Given the description of an element on the screen output the (x, y) to click on. 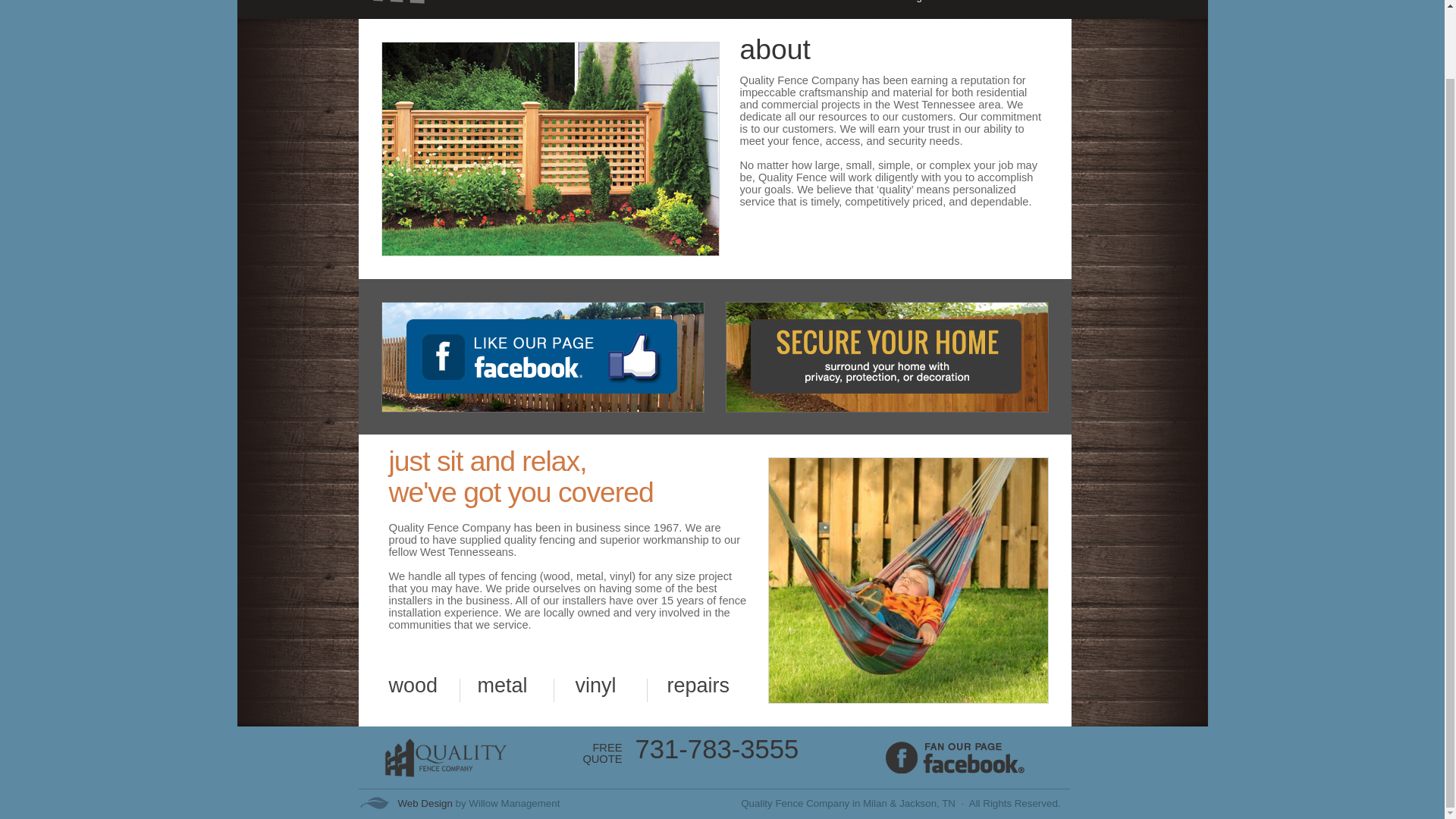
Contact (991, 2)
vinyl (595, 685)
Decks (859, 2)
Web Design (424, 803)
Home (681, 2)
Pergolas (924, 2)
About (738, 2)
repairs (698, 685)
wood (413, 685)
Fences (799, 2)
